Given the description of an element on the screen output the (x, y) to click on. 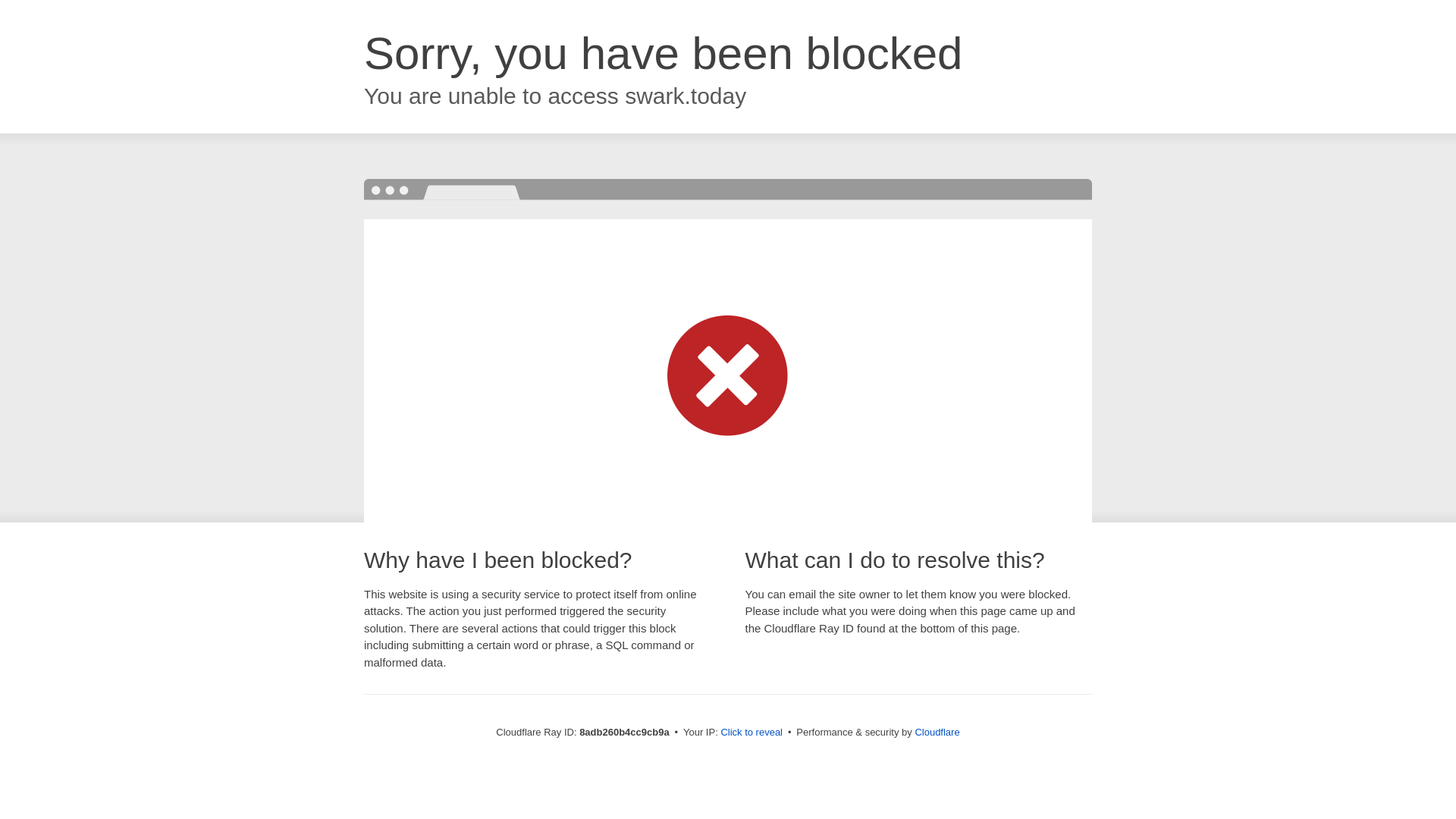
Click to reveal (751, 732)
Cloudflare (936, 731)
